Given the description of an element on the screen output the (x, y) to click on. 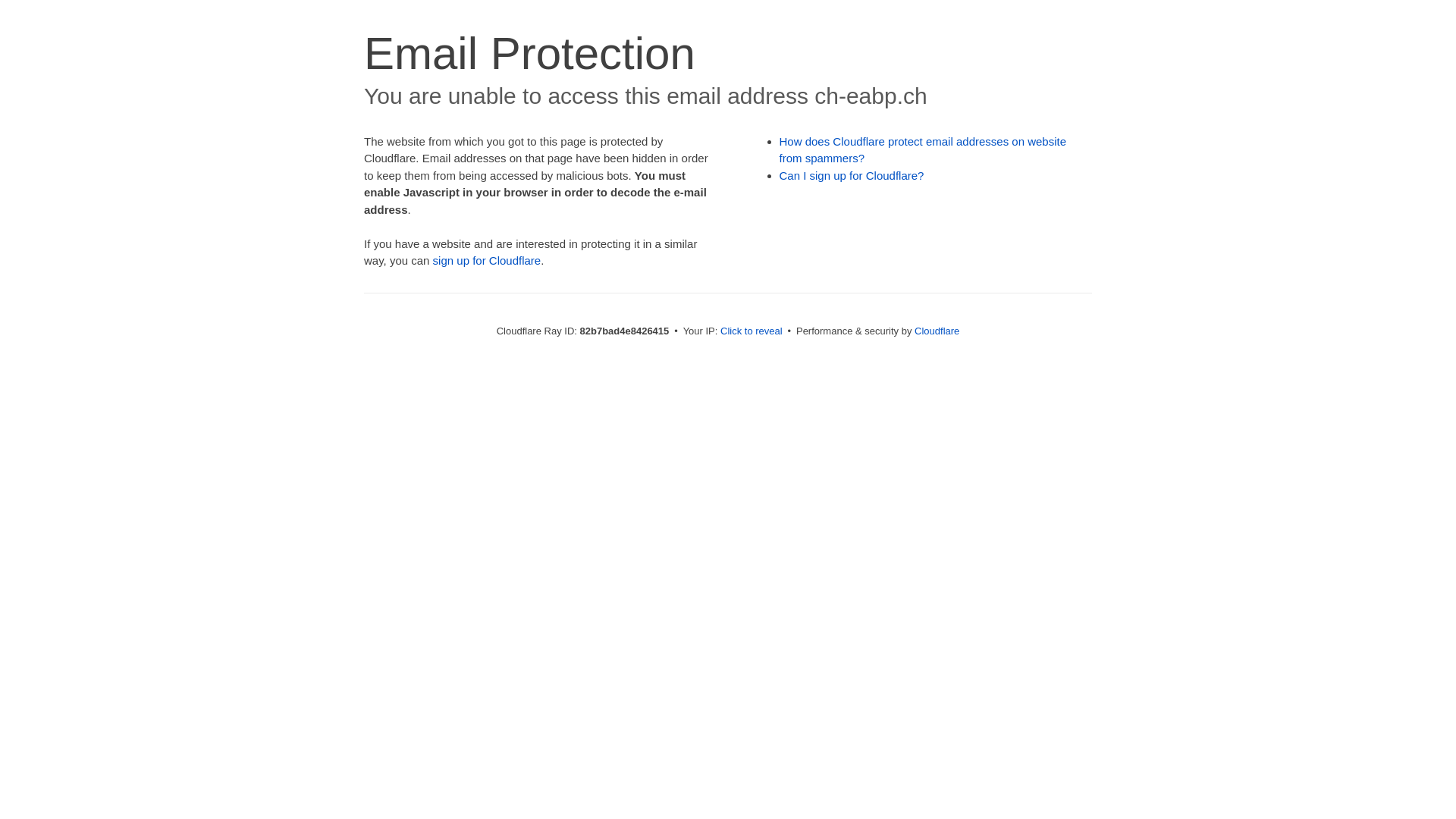
Cloudflare Element type: text (936, 330)
sign up for Cloudflare Element type: text (487, 260)
Click to reveal Element type: text (751, 330)
Can I sign up for Cloudflare? Element type: text (851, 175)
